Given the description of an element on the screen output the (x, y) to click on. 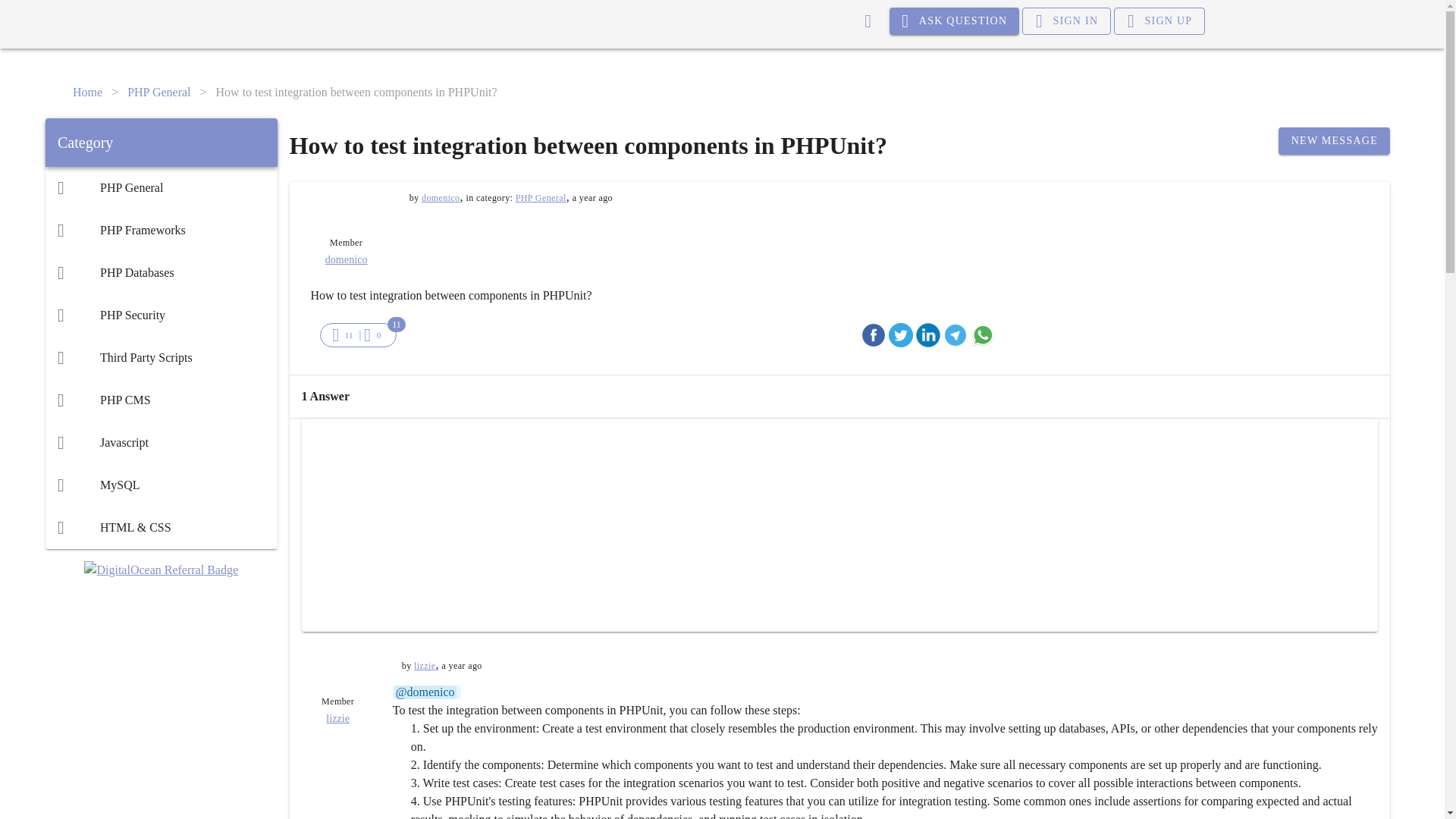
ASK QUESTION (954, 21)
PHP Security (161, 315)
PHP General (161, 188)
MySQL (161, 485)
11 (343, 334)
How to test integration between components in PHPUnit? (356, 92)
PHP Frameworks (161, 230)
NEW MESSAGE (1334, 140)
Telegram (955, 334)
SIGN UP (1159, 21)
